Given the description of an element on the screen output the (x, y) to click on. 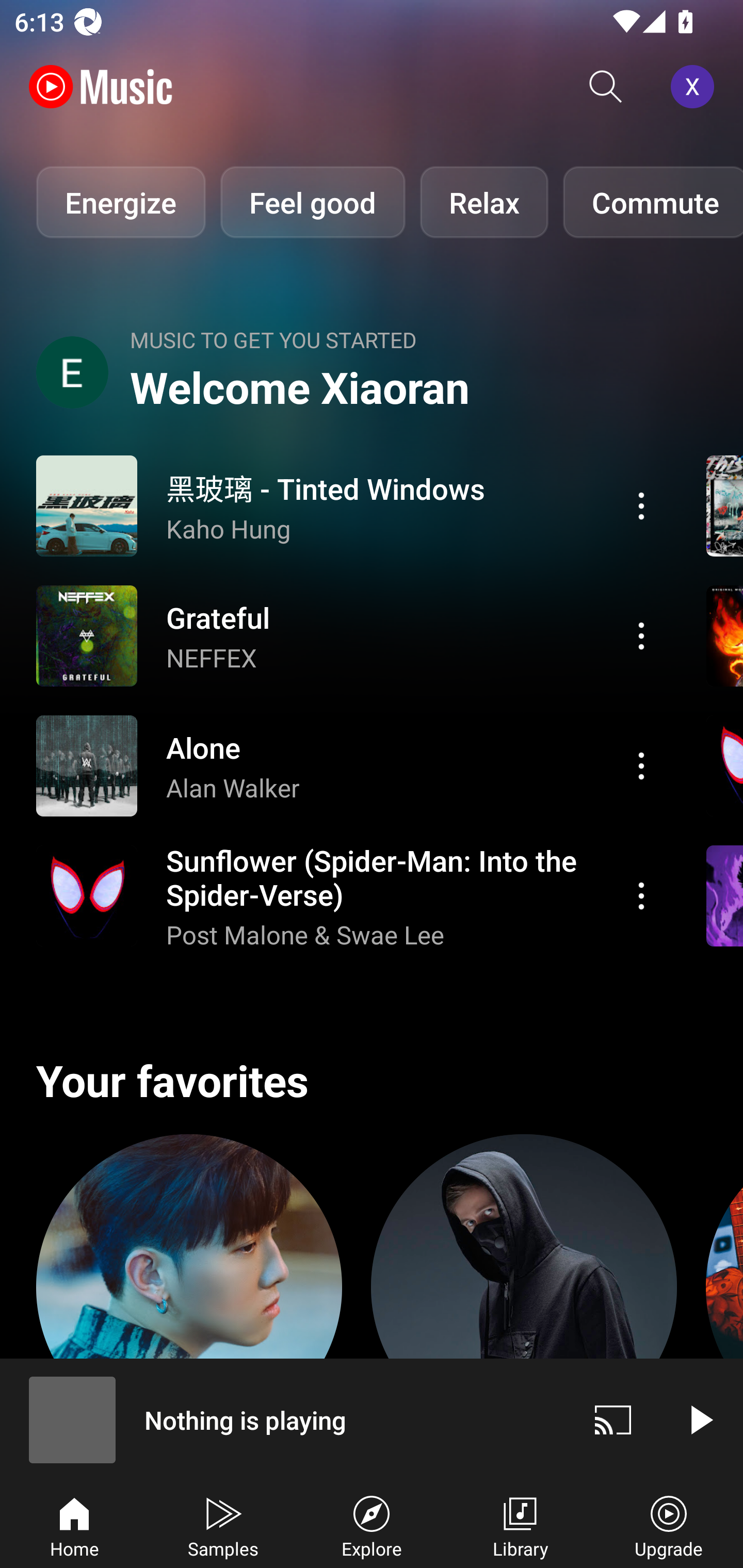
Search (605, 86)
Account (696, 86)
Action menu (349, 505)
Action menu (641, 505)
Action menu (349, 635)
Action menu (641, 635)
Action menu (349, 765)
Action menu (641, 765)
Action menu (349, 896)
Action menu (641, 896)
Nothing is playing (284, 1419)
Cast. Disconnected (612, 1419)
Play video (699, 1419)
Samples (222, 1524)
Explore (371, 1524)
Library (519, 1524)
Upgrade (668, 1524)
